Given the description of an element on the screen output the (x, y) to click on. 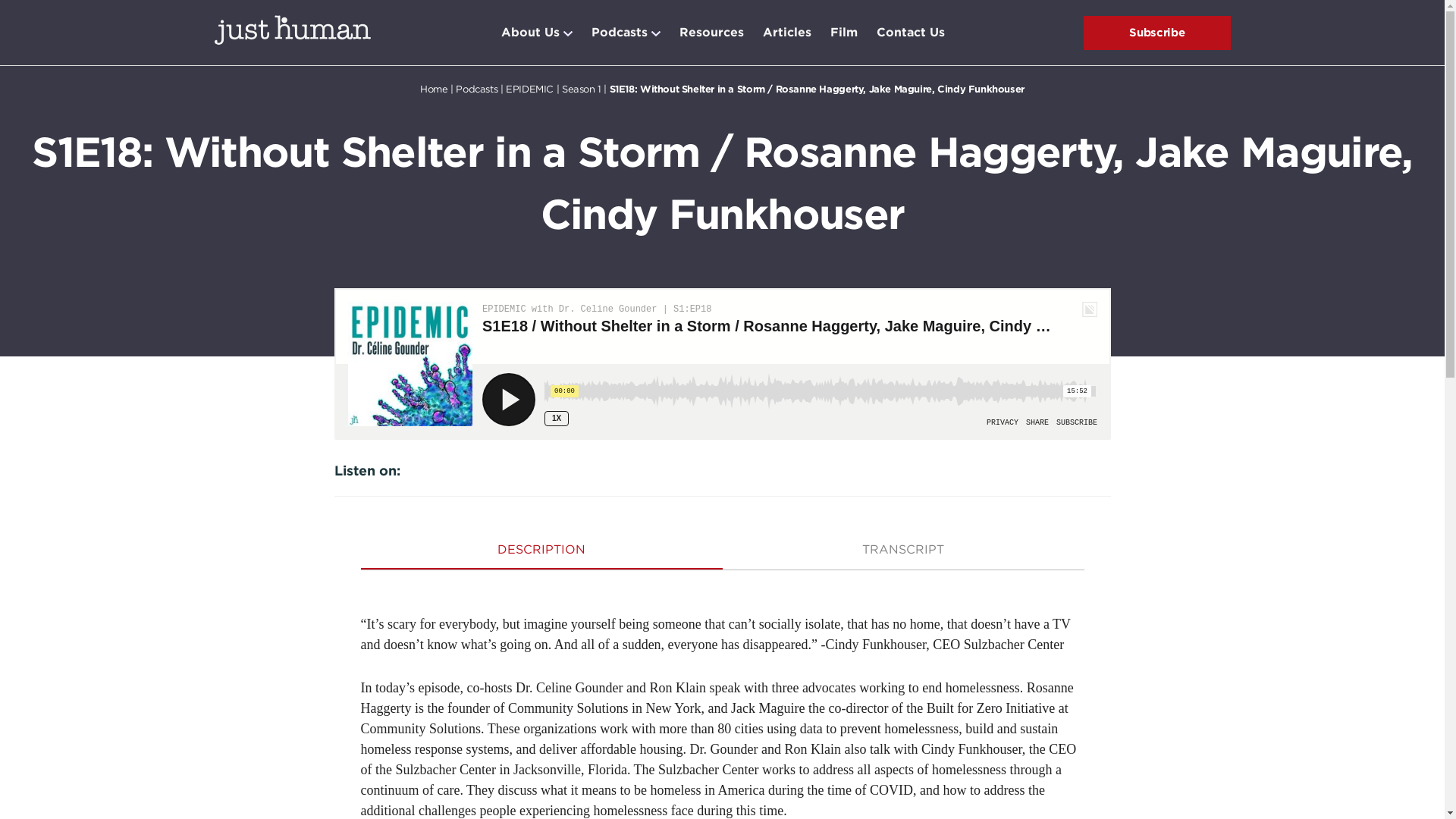
Podcasts (476, 89)
Season 1 (581, 89)
Contact Us (910, 32)
Subscribe (1156, 32)
Home (433, 89)
Articles (786, 32)
About Us (529, 32)
EPIDEMIC (529, 89)
Resources (711, 32)
Podcasts (619, 32)
